Given the description of an element on the screen output the (x, y) to click on. 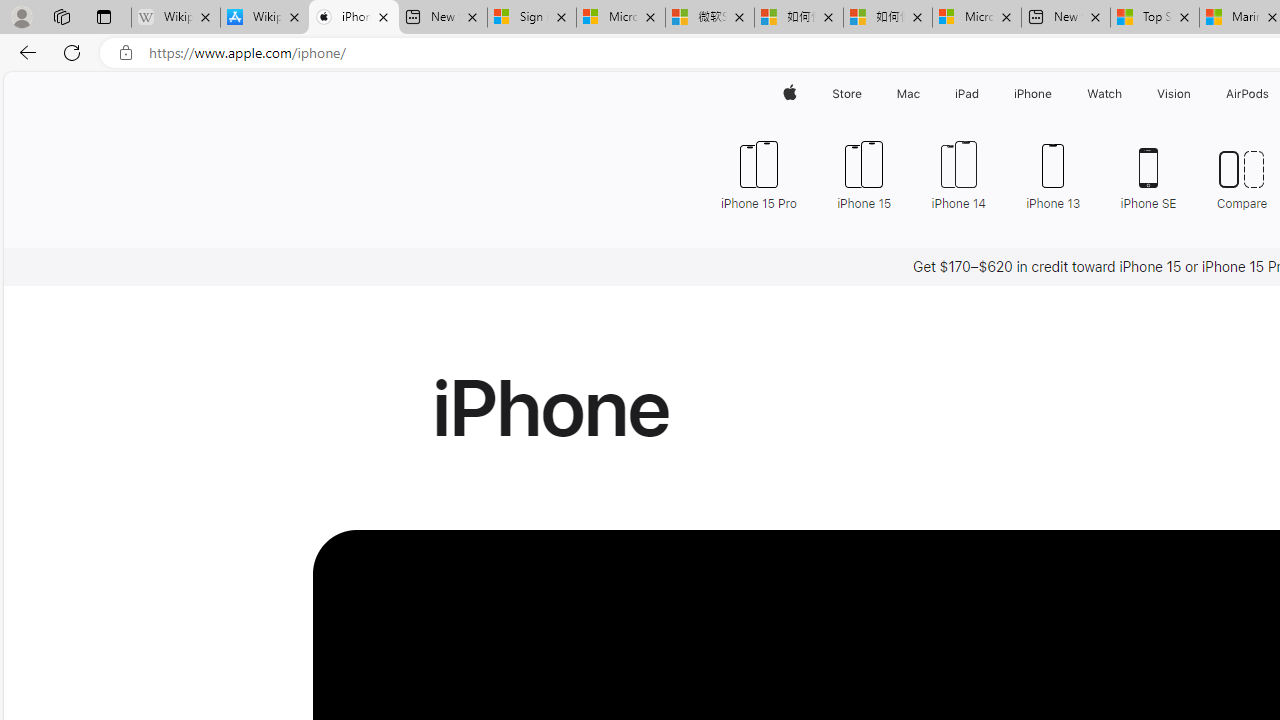
iPhone 13 (1053, 173)
iPhone 14 (957, 173)
iPhone 14 (958, 173)
Mac (908, 93)
Microsoft account | Account Checkup (977, 17)
iPhone 15 Pro (765, 173)
iPhone (1033, 93)
Mac menu (922, 93)
iPad (965, 93)
